Given the description of an element on the screen output the (x, y) to click on. 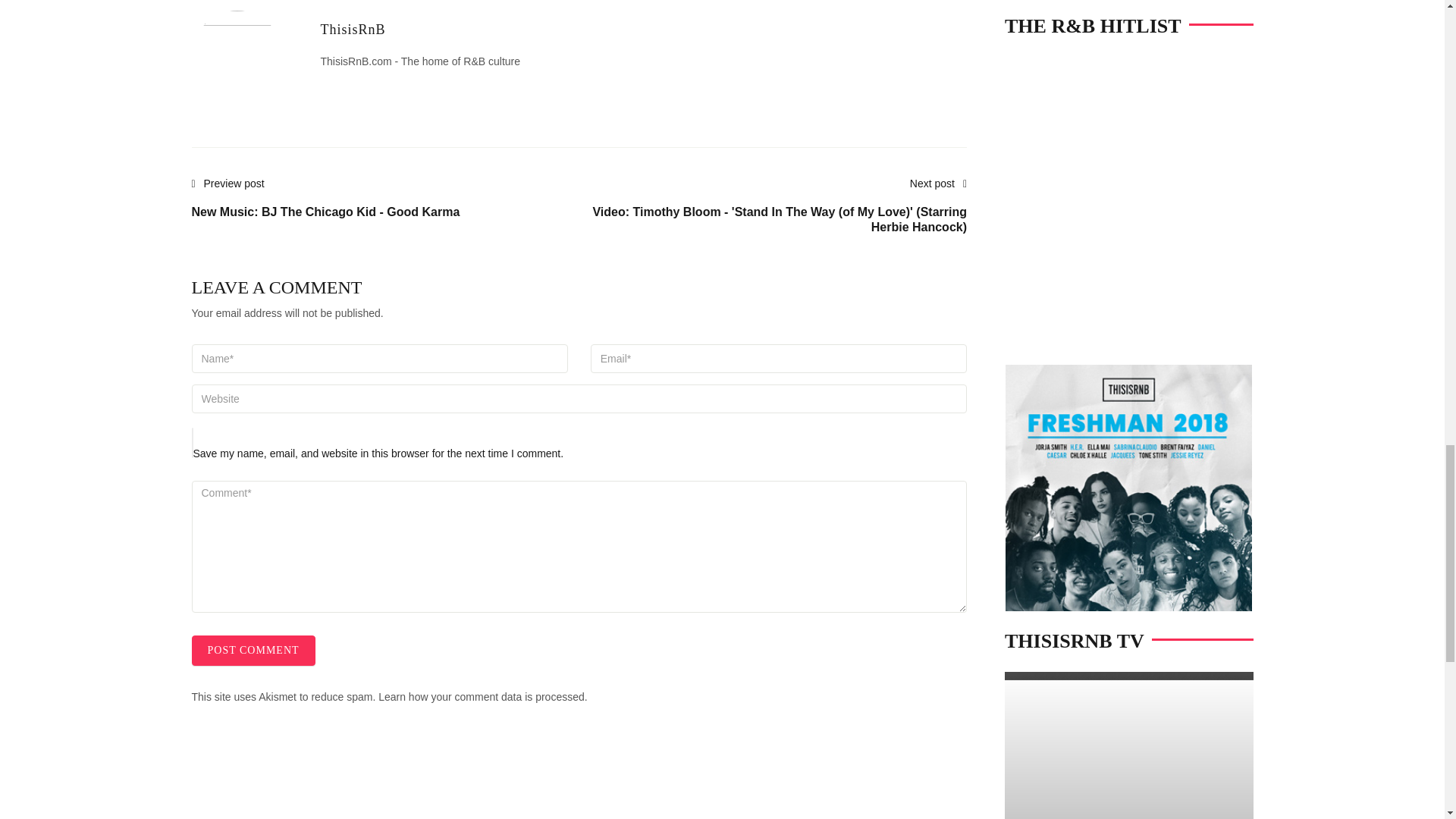
Posts by ThisisRnB (352, 29)
next post (772, 214)
Post Comment (252, 650)
prev post (325, 206)
